Given the description of an element on the screen output the (x, y) to click on. 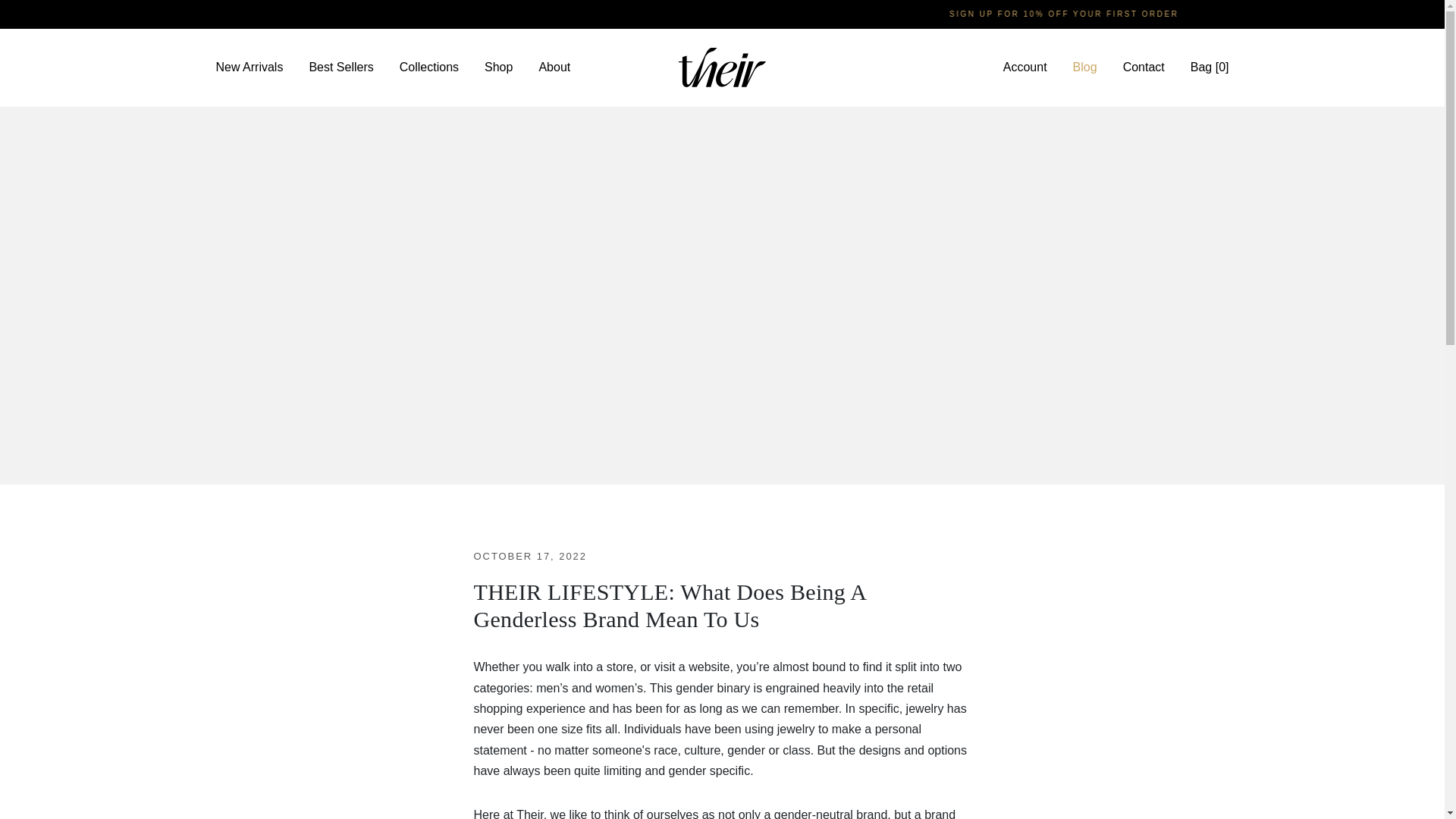
Their Home (722, 66)
New Arrivals (250, 67)
Collections (429, 67)
Best Sellers (340, 67)
